Given the description of an element on the screen output the (x, y) to click on. 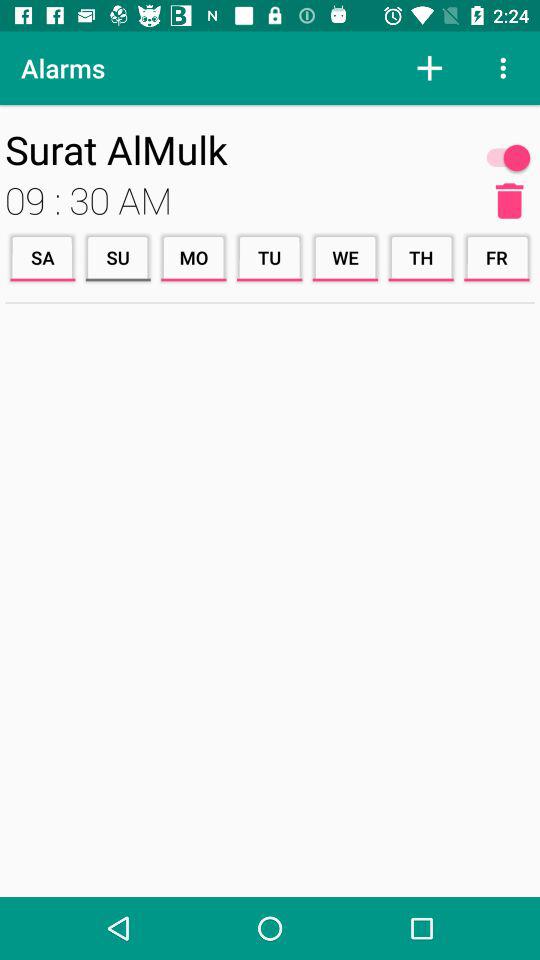
turn on the item to the right of the sa icon (118, 257)
